Given the description of an element on the screen output the (x, y) to click on. 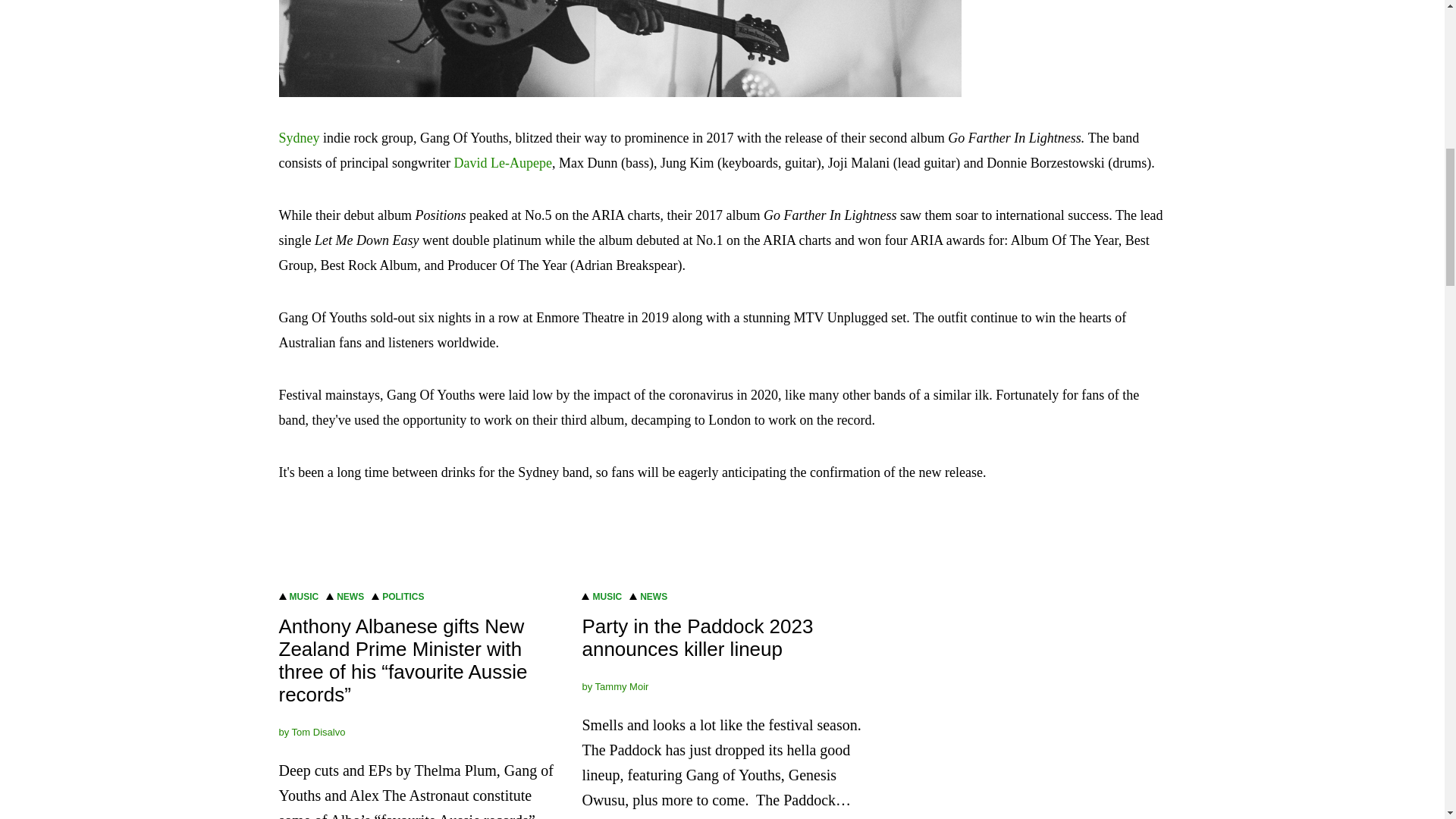
MUSIC (303, 595)
NEWS (350, 595)
POLITICS (402, 595)
David Le-Aupepe (501, 162)
Sydney (299, 137)
